Given the description of an element on the screen output the (x, y) to click on. 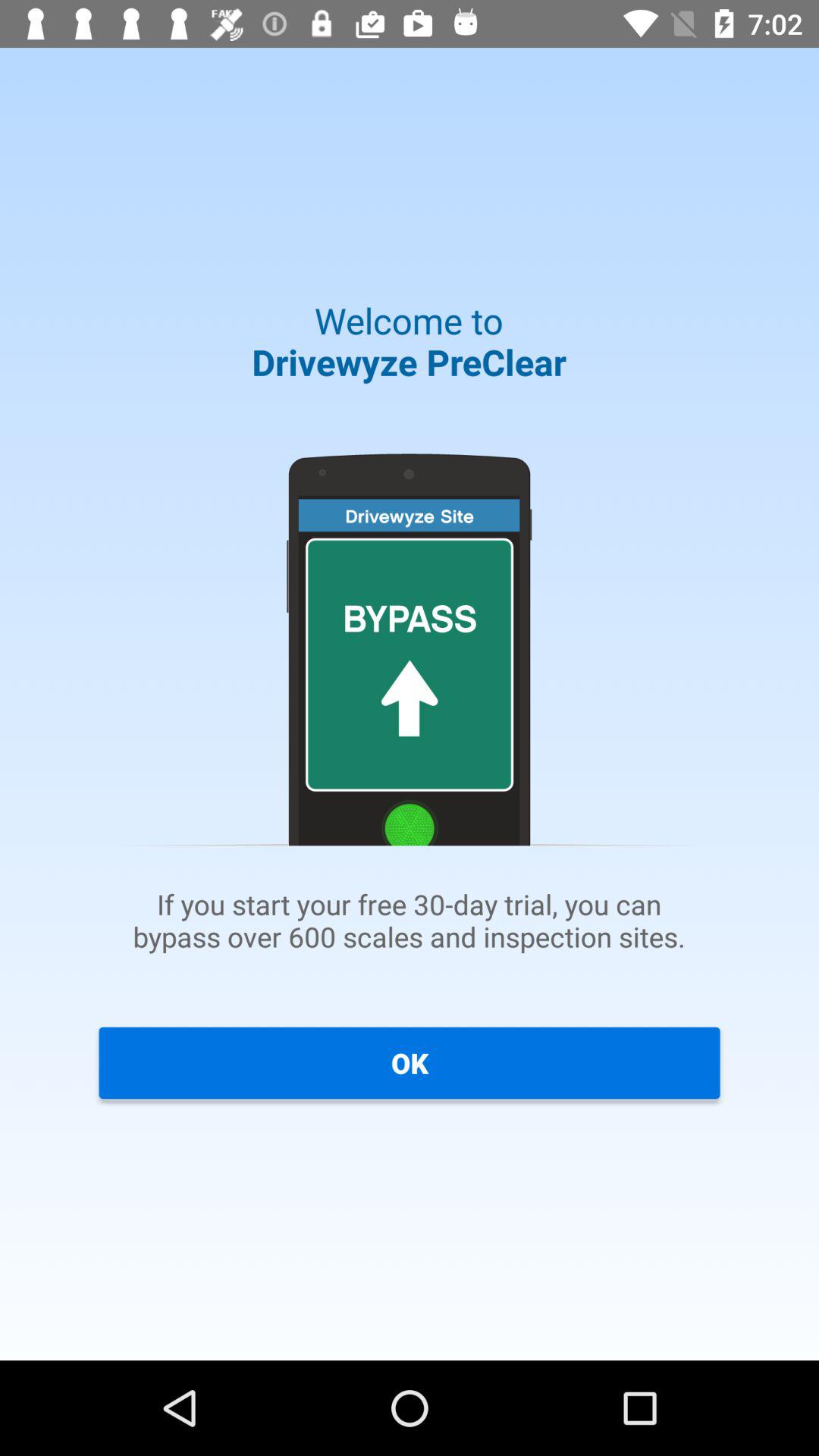
scroll to ok (409, 1062)
